Given the description of an element on the screen output the (x, y) to click on. 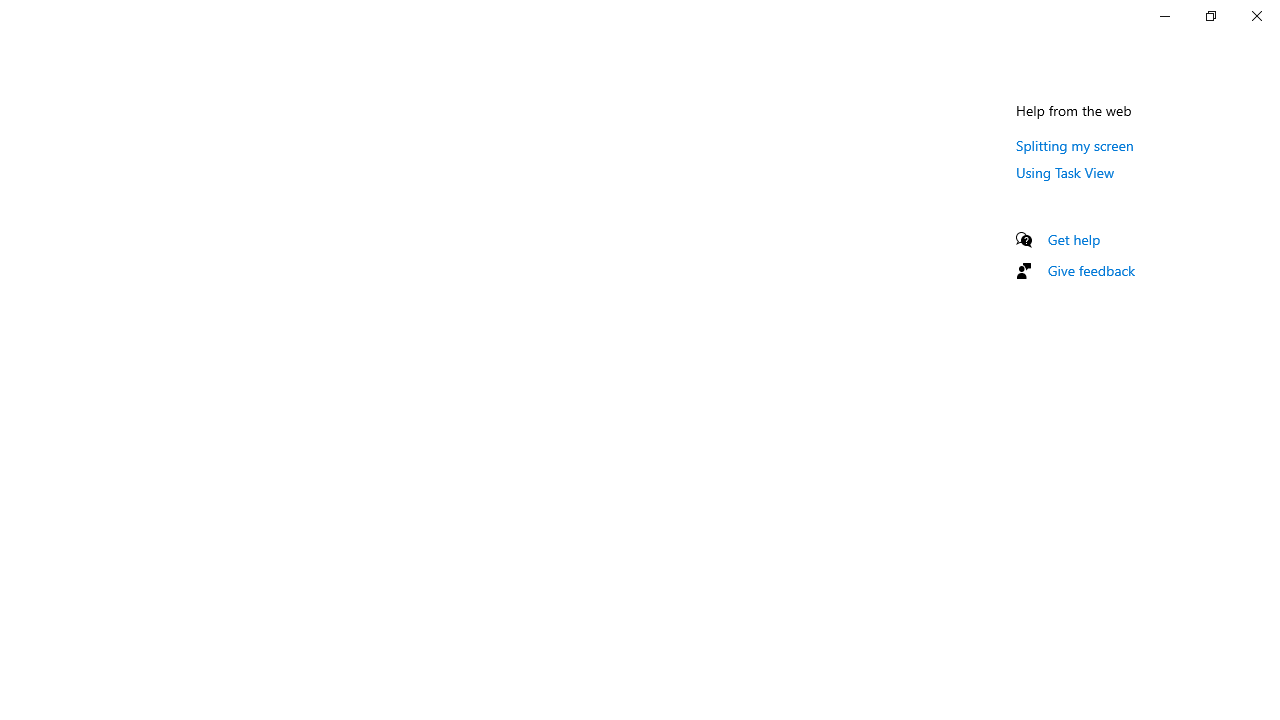
Using Task View (1065, 172)
Splitting my screen (1075, 145)
